Given the description of an element on the screen output the (x, y) to click on. 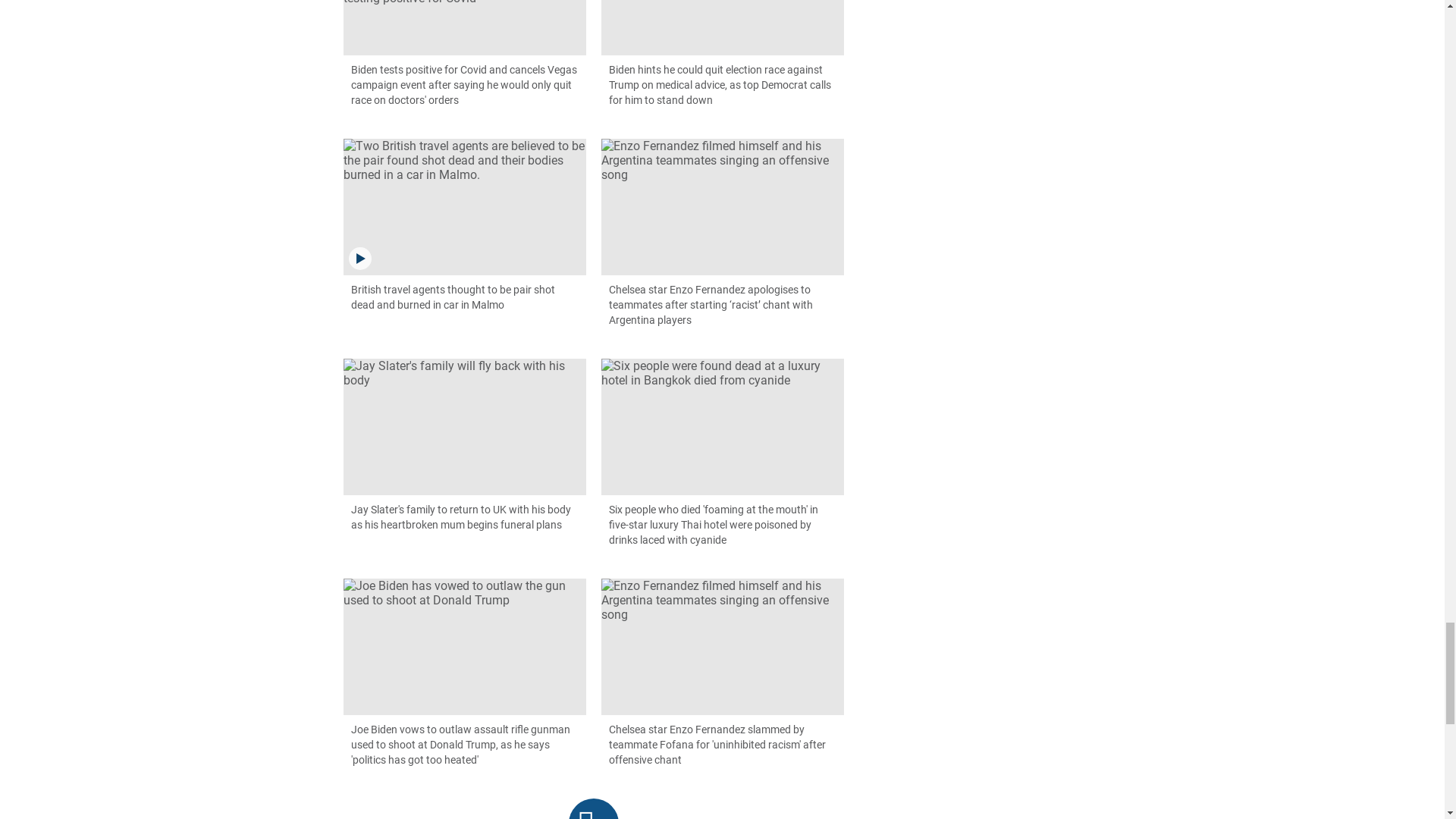
View More (593, 808)
